Given the description of an element on the screen output the (x, y) to click on. 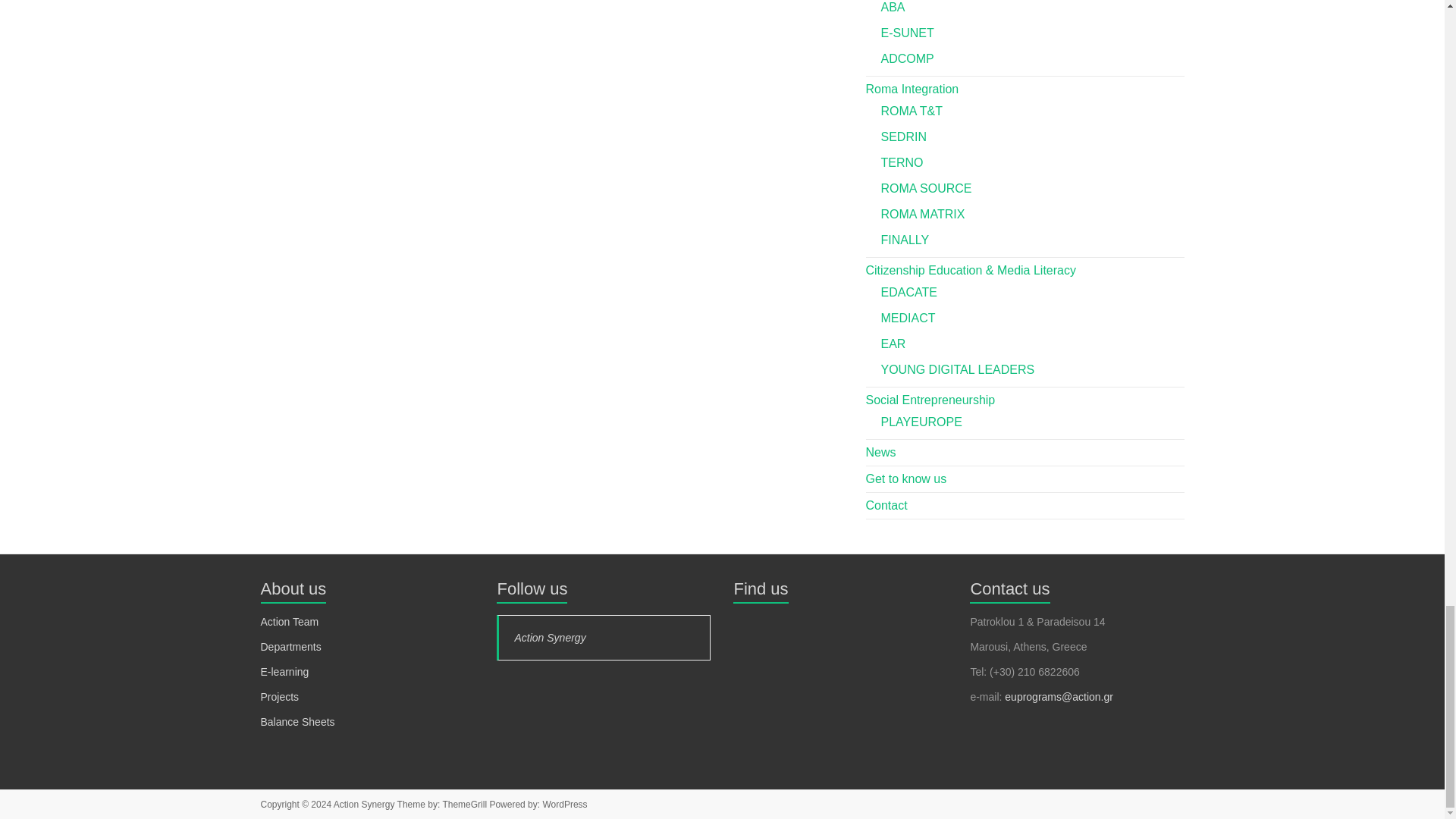
ThemeGrill (464, 804)
Action Synergy (363, 804)
WordPress (563, 804)
